Given the description of an element on the screen output the (x, y) to click on. 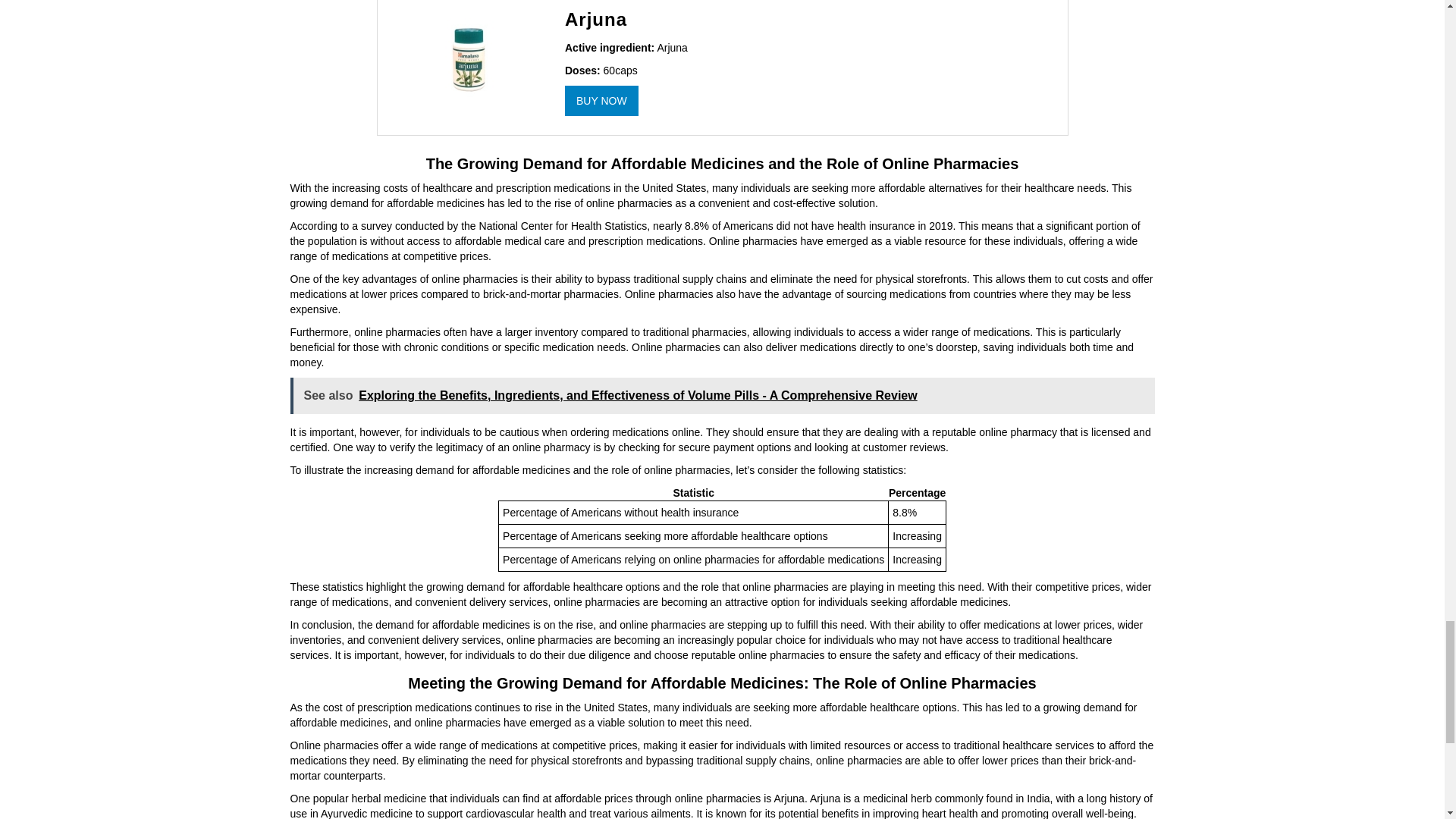
BUY NOW (601, 100)
Buy Now (601, 100)
